Given the description of an element on the screen output the (x, y) to click on. 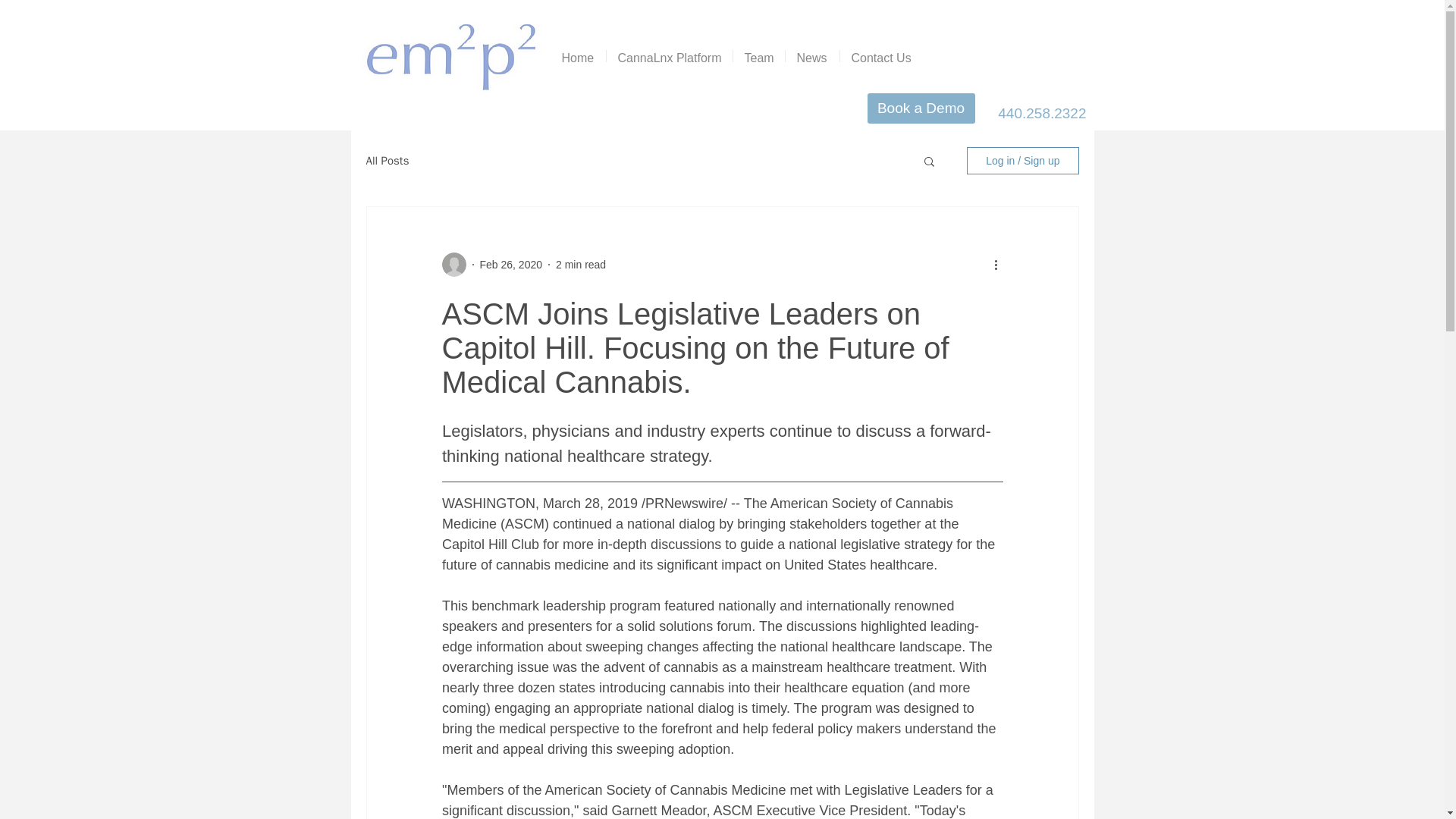
Home (577, 55)
News (813, 55)
Contact Us (881, 55)
2 min read (580, 263)
Feb 26, 2020 (510, 263)
Team (758, 55)
All Posts (387, 160)
Book a Demo (921, 108)
CannaLnx Platform (669, 55)
